Given the description of an element on the screen output the (x, y) to click on. 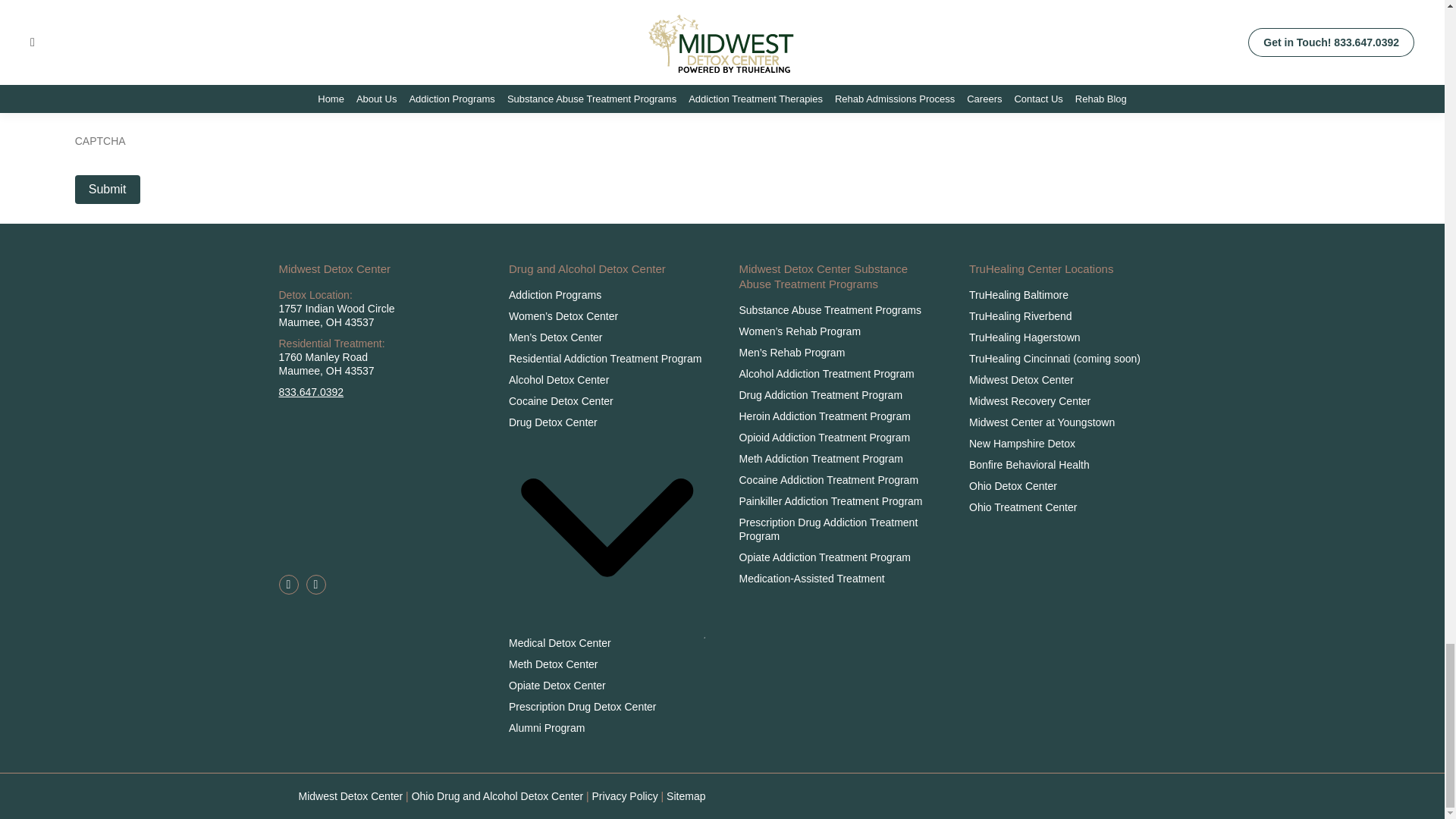
Submit (107, 189)
